Given the description of an element on the screen output the (x, y) to click on. 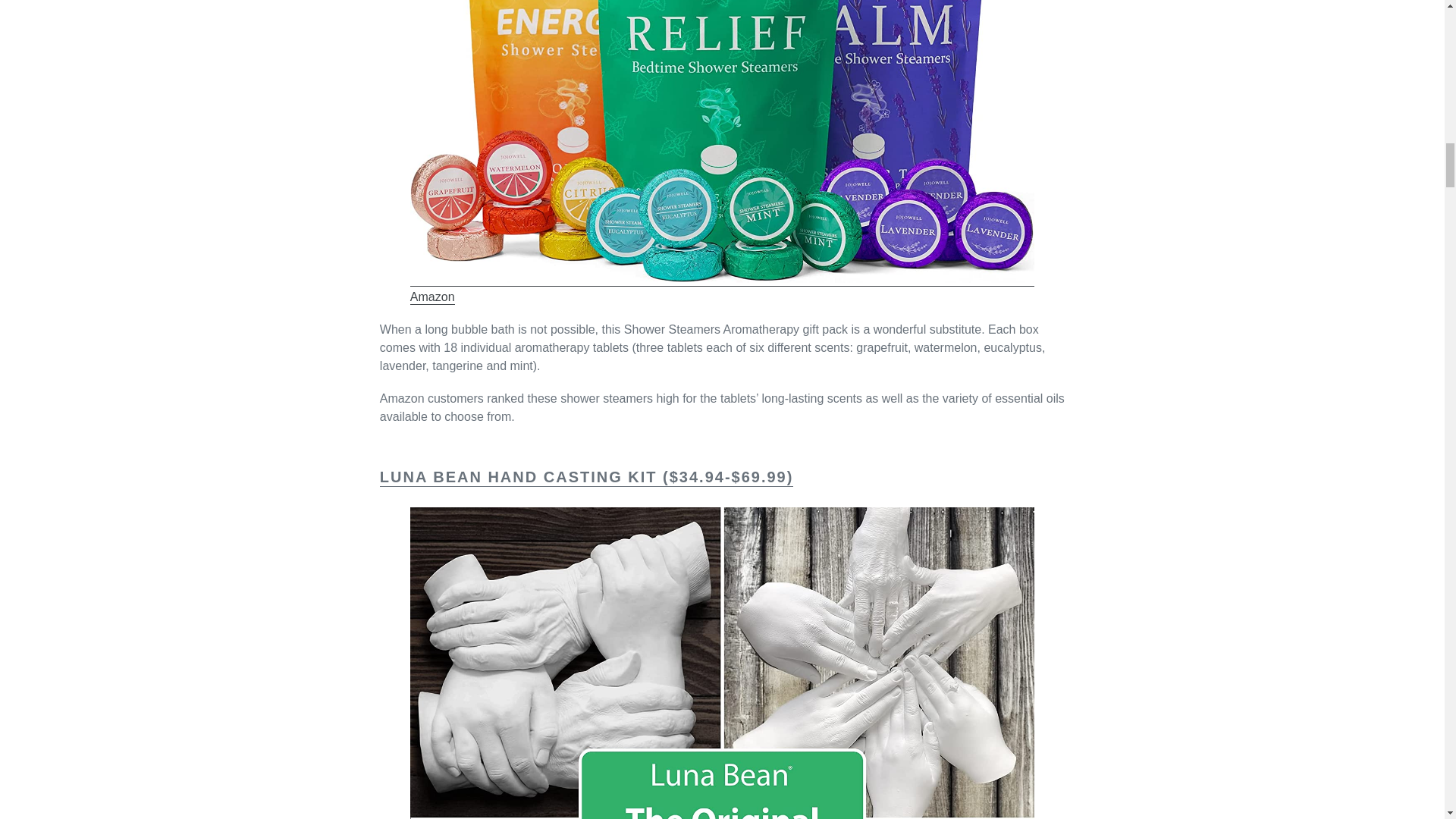
Amazon (432, 296)
